Given the description of an element on the screen output the (x, y) to click on. 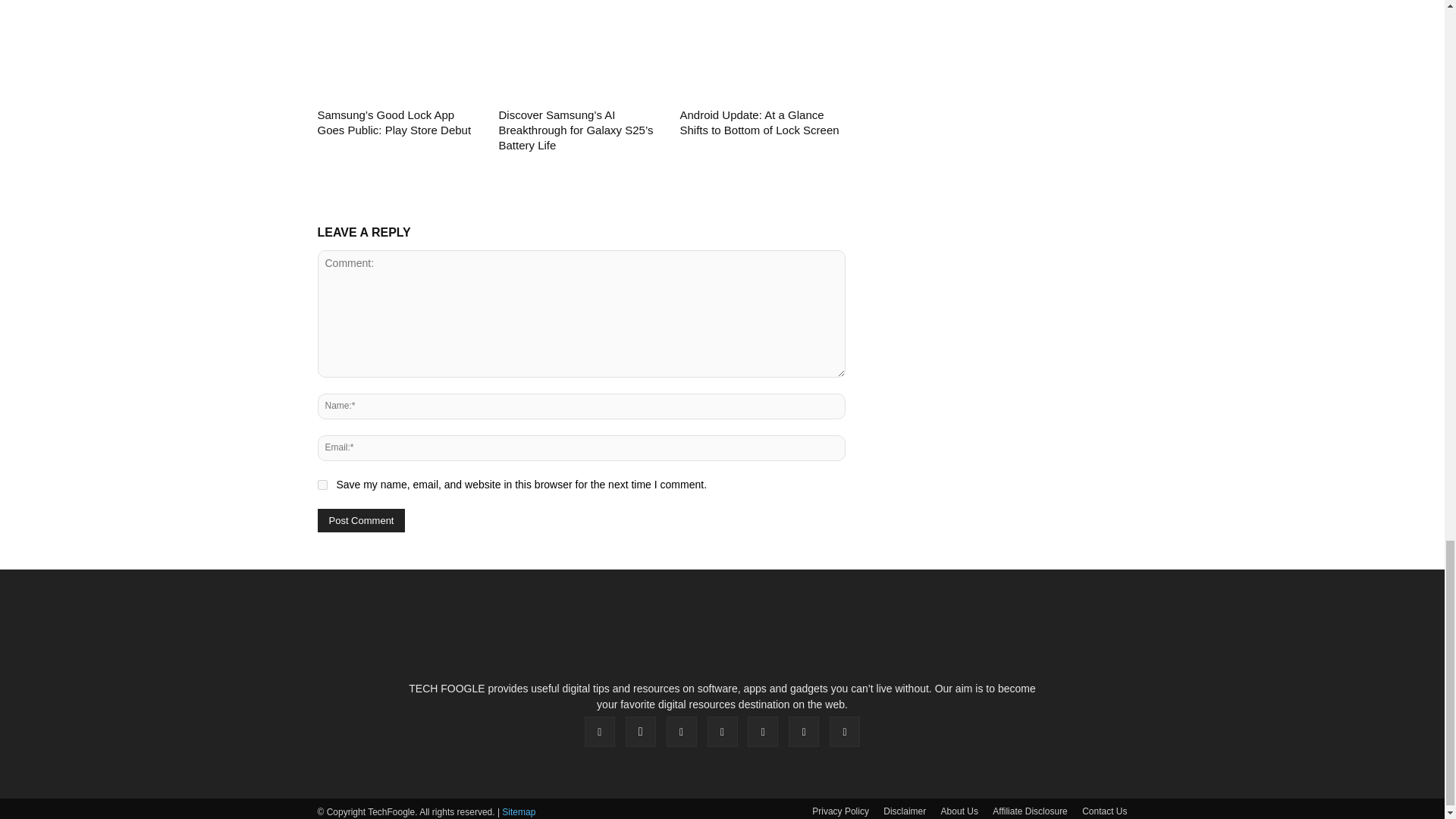
yes (321, 484)
Post Comment (360, 520)
